Given the description of an element on the screen output the (x, y) to click on. 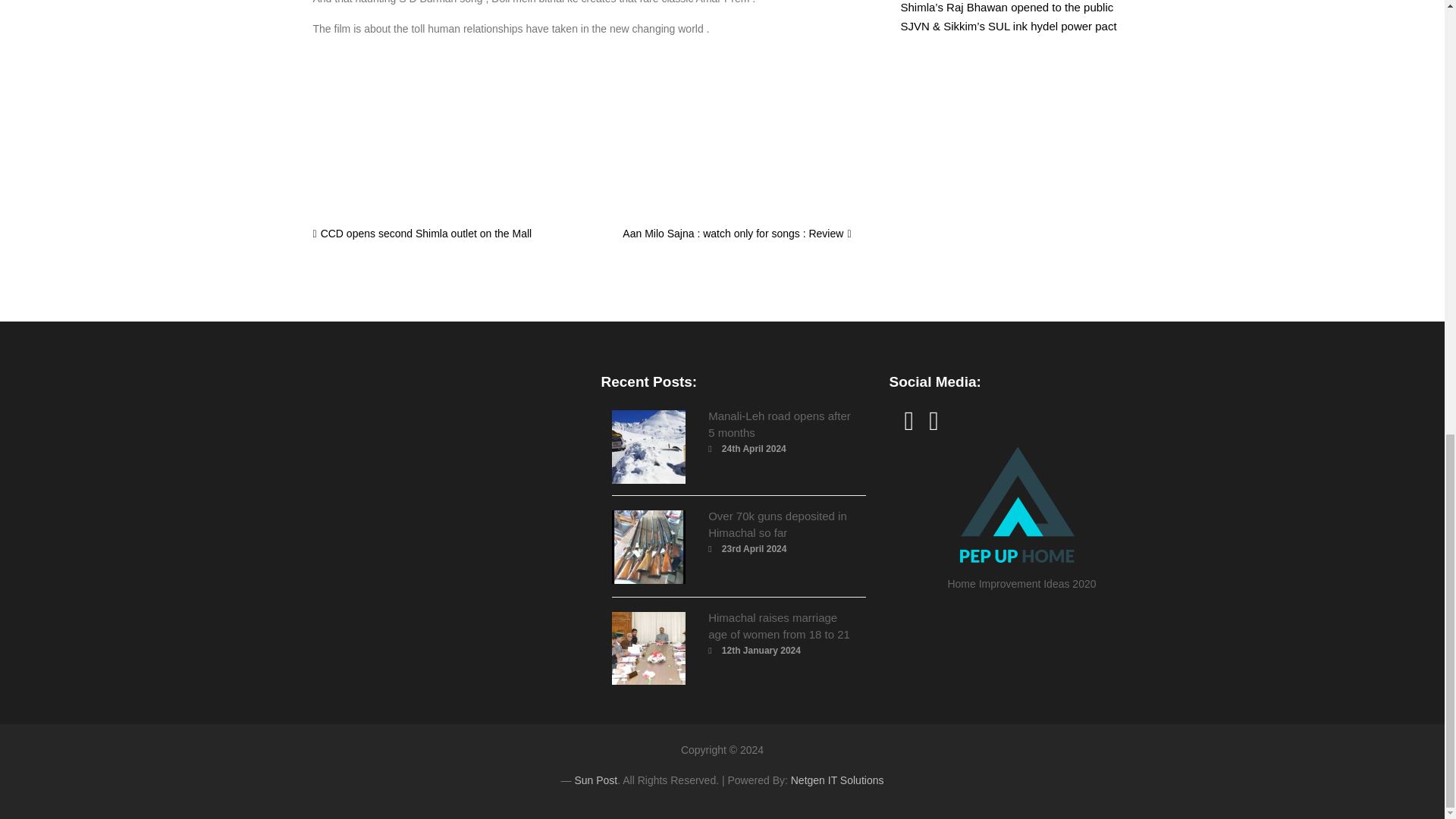
Manali-Leh road opens after 5 months (778, 423)
Himachal raises marriage age of women from 18 to 21 (778, 625)
Aan Milo Sajna : watch only for songs : Review (736, 233)
Home Improvement Ideas 2020 (1021, 512)
CCD opens second Shimla outlet on the Mall (422, 233)
Over 70k guns deposited in Himachal so far (777, 523)
Netgen IT Solutions (836, 779)
Sun Post (595, 779)
